Given the description of an element on the screen output the (x, y) to click on. 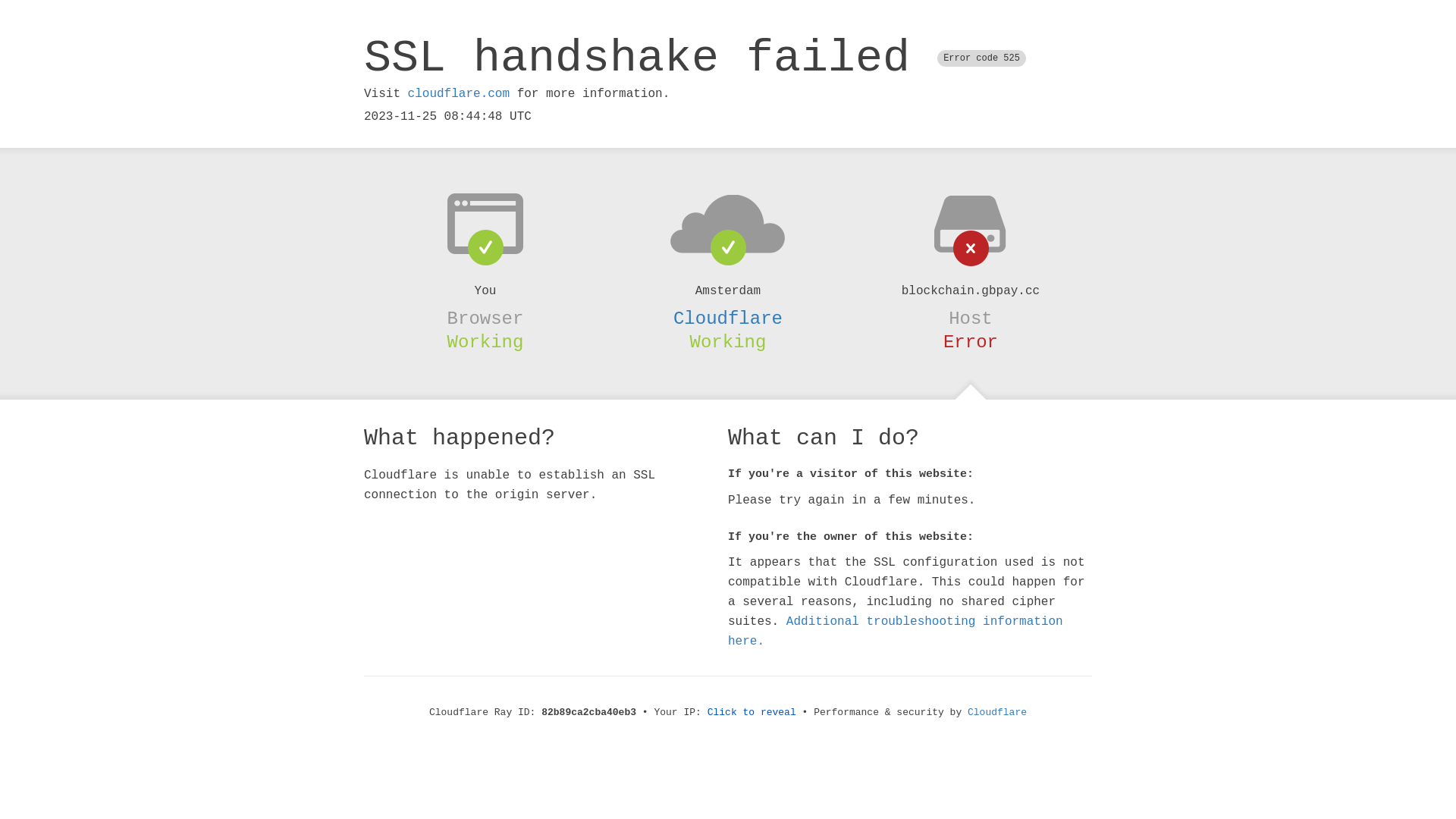
Additional troubleshooting information here. Element type: text (895, 631)
Cloudflare Element type: text (727, 318)
cloudflare.com Element type: text (458, 93)
Cloudflare Element type: text (996, 712)
Click to reveal Element type: text (751, 712)
